Given the description of an element on the screen output the (x, y) to click on. 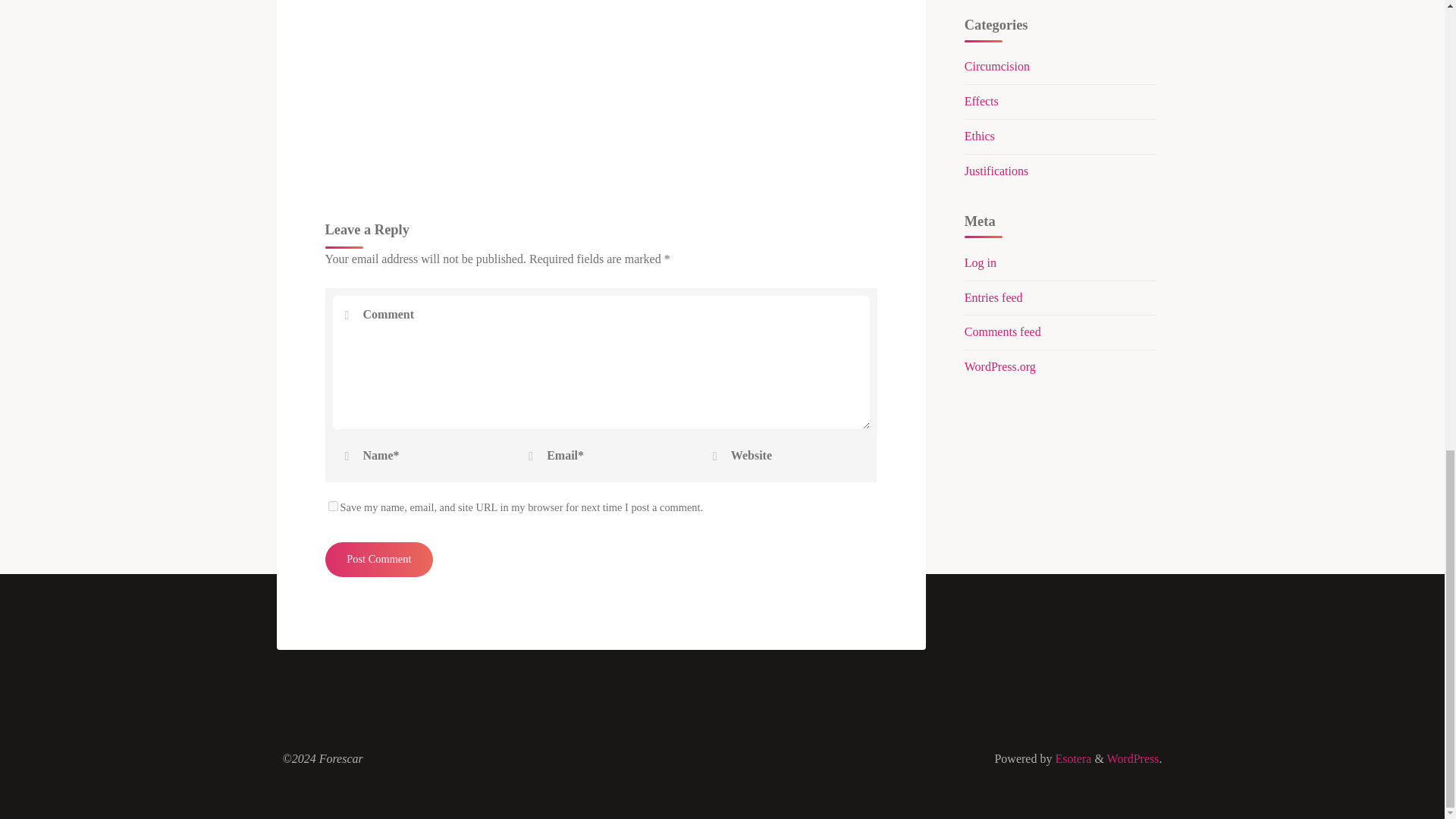
Ethics (978, 135)
Circumcision (996, 65)
yes (332, 506)
Semantic Personal Publishing Platform (1132, 758)
Effects (980, 101)
Post Comment (378, 559)
Esotera WordPress Theme by Cryout Creations (1070, 758)
Justifications (995, 170)
Post Comment (378, 559)
